Given the description of an element on the screen output the (x, y) to click on. 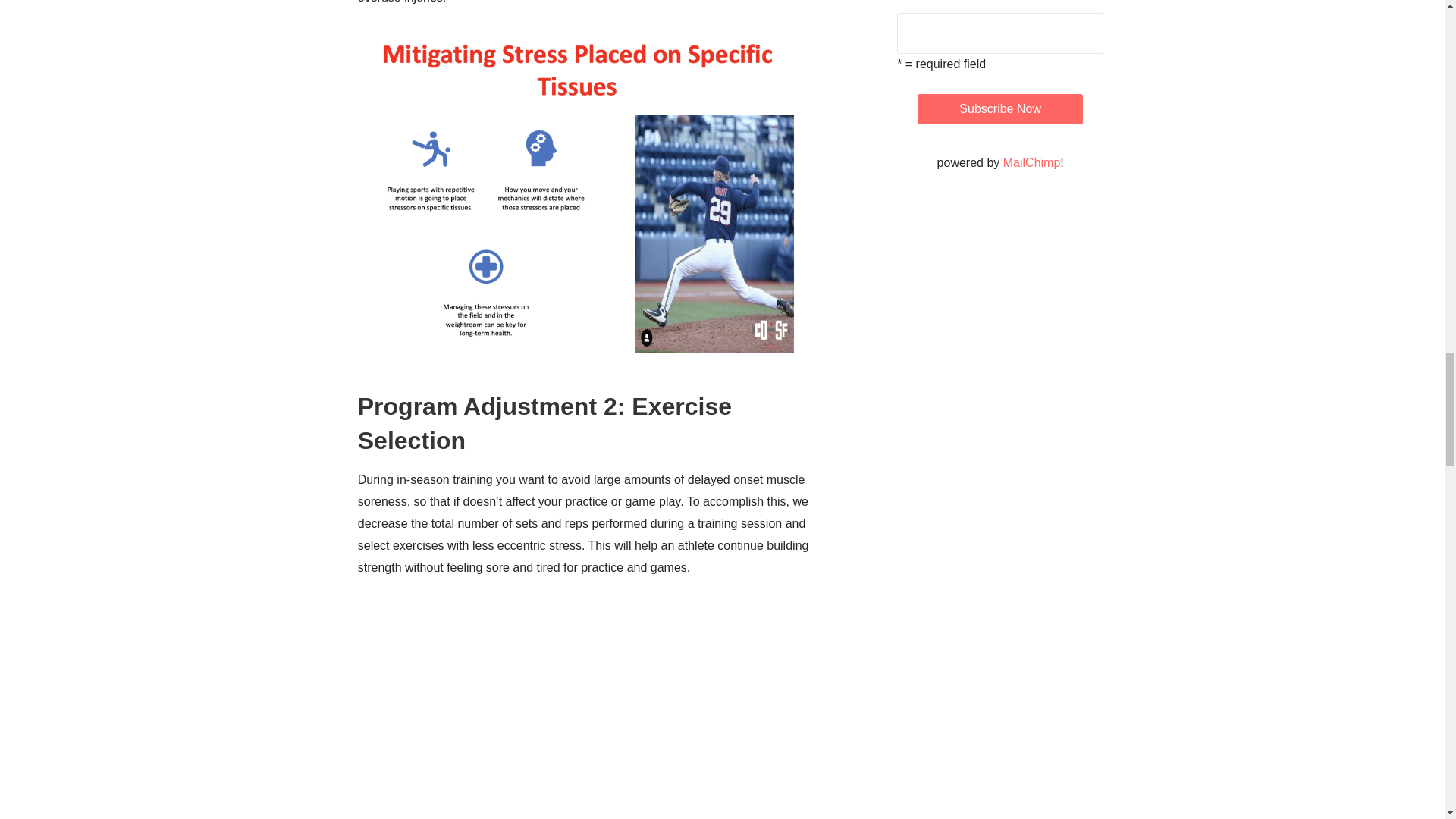
Subscribe Now (1000, 109)
